Given the description of an element on the screen output the (x, y) to click on. 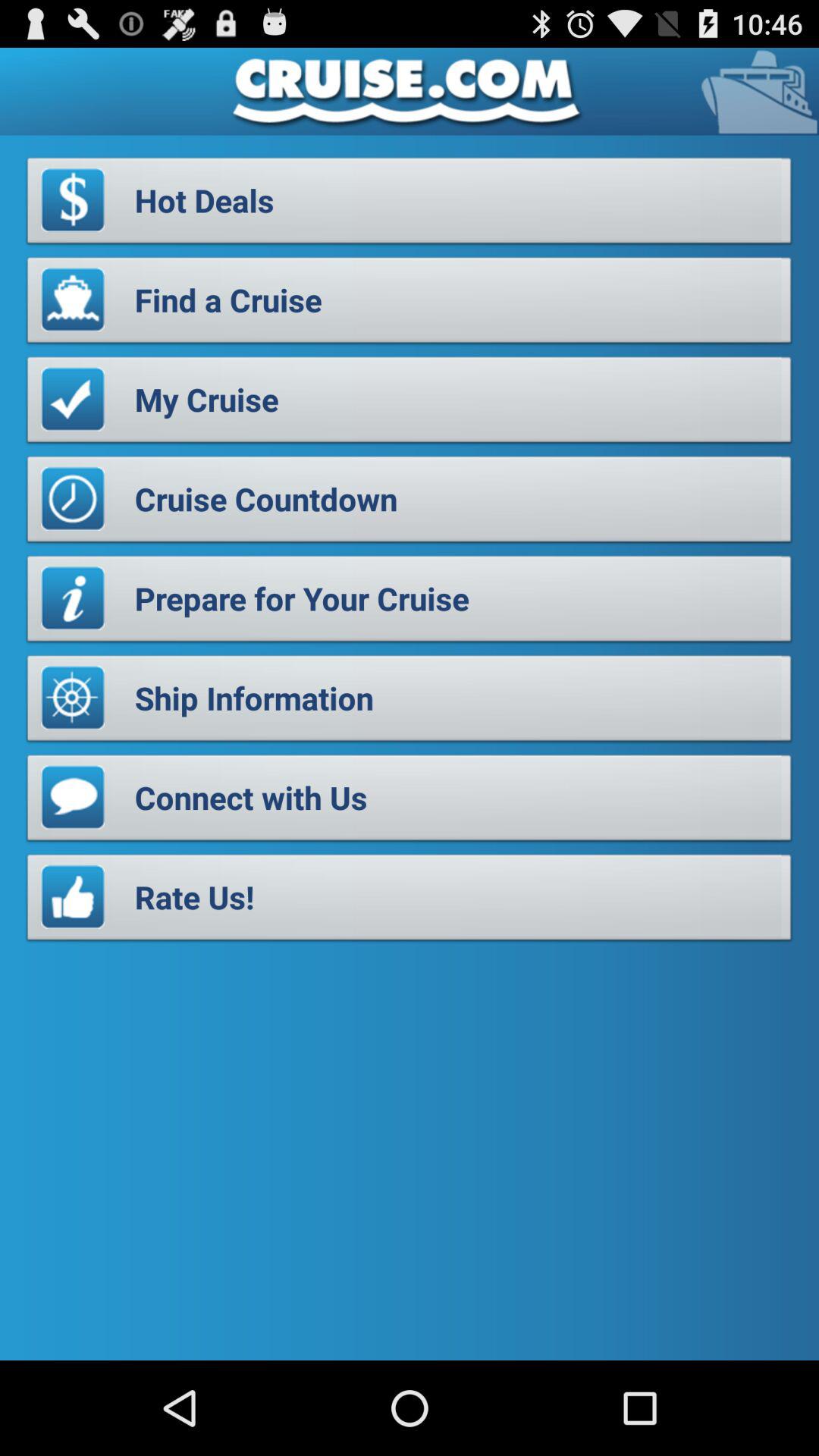
press button above rate us! item (409, 801)
